Given the description of an element on the screen output the (x, y) to click on. 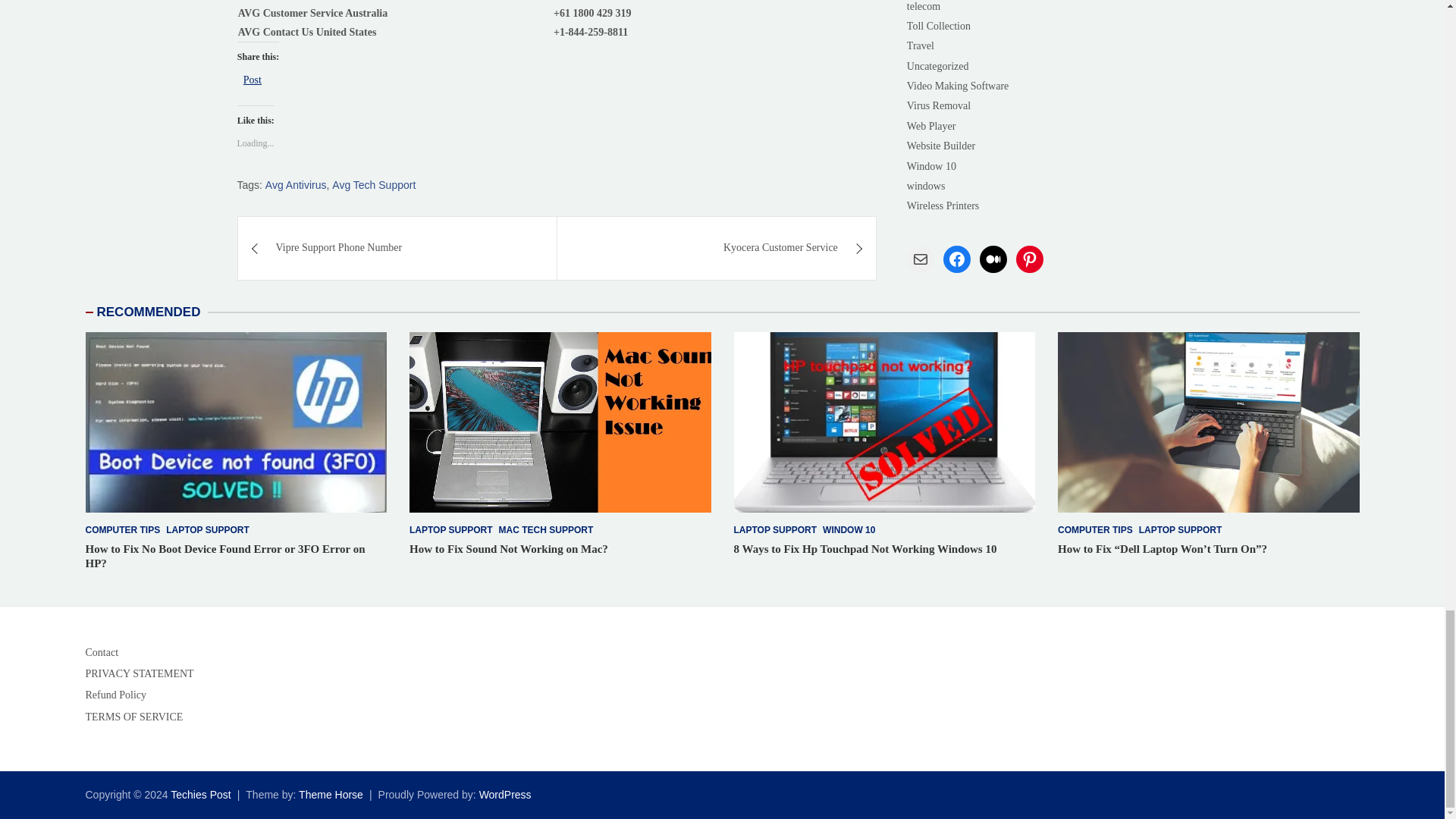
Avg Tech Support (372, 184)
Techies Post (200, 794)
WordPress (505, 794)
Post (251, 78)
Vipre Support Phone Number (397, 248)
Kyocera Customer Service (716, 248)
Avg Antivirus (295, 184)
Theme Horse (330, 794)
